Given the description of an element on the screen output the (x, y) to click on. 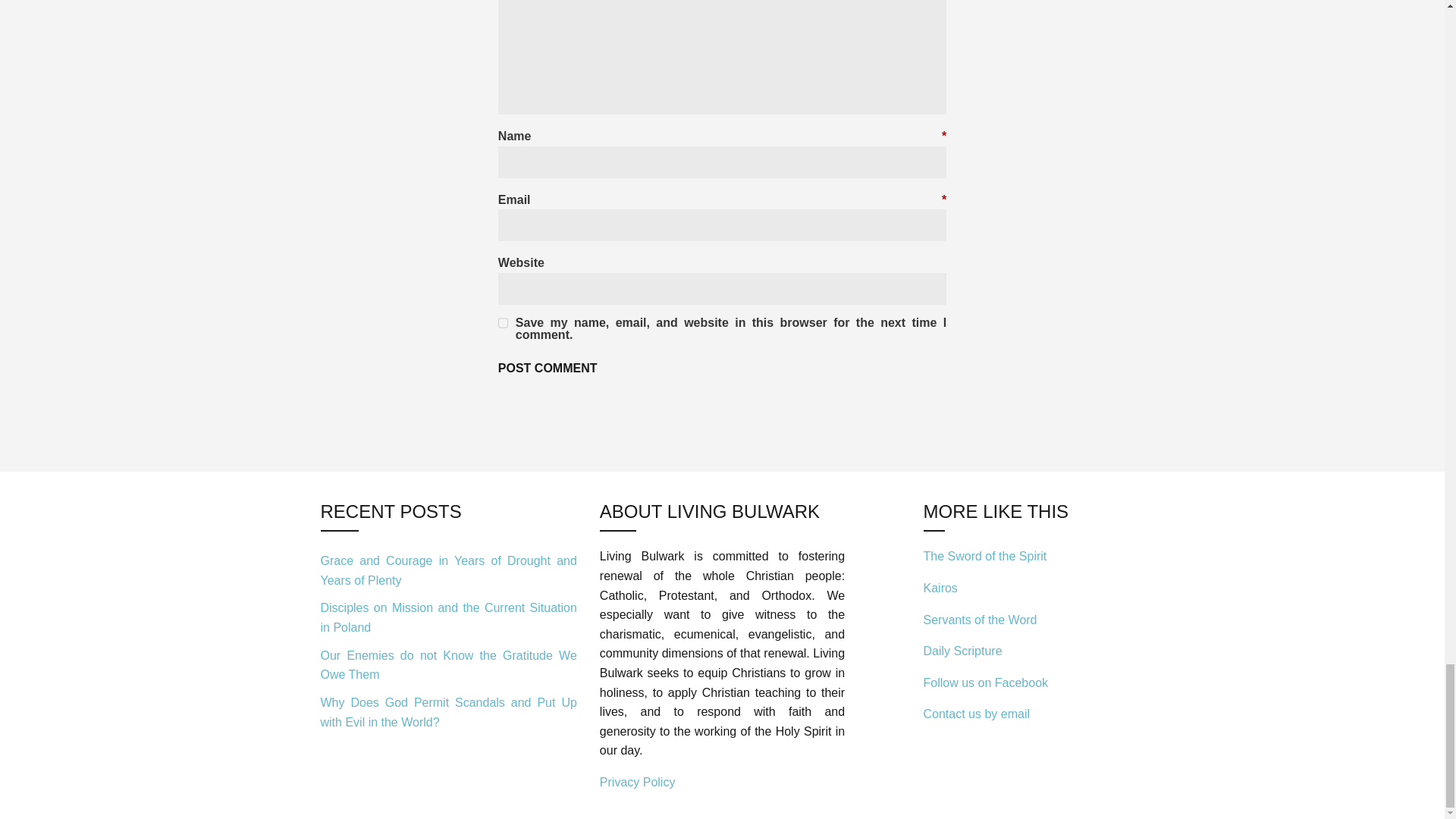
Our Enemies do not Know the Gratitude We Owe Them  (448, 664)
The Sword of the Spirit (984, 555)
Contact us by email (976, 713)
Privacy Policy (637, 781)
Post Comment (546, 368)
Follow us on Facebook (985, 682)
Post Comment (546, 368)
Kairos (940, 587)
Disciples on Mission and the Current Situation in Poland  (448, 617)
